Given the description of an element on the screen output the (x, y) to click on. 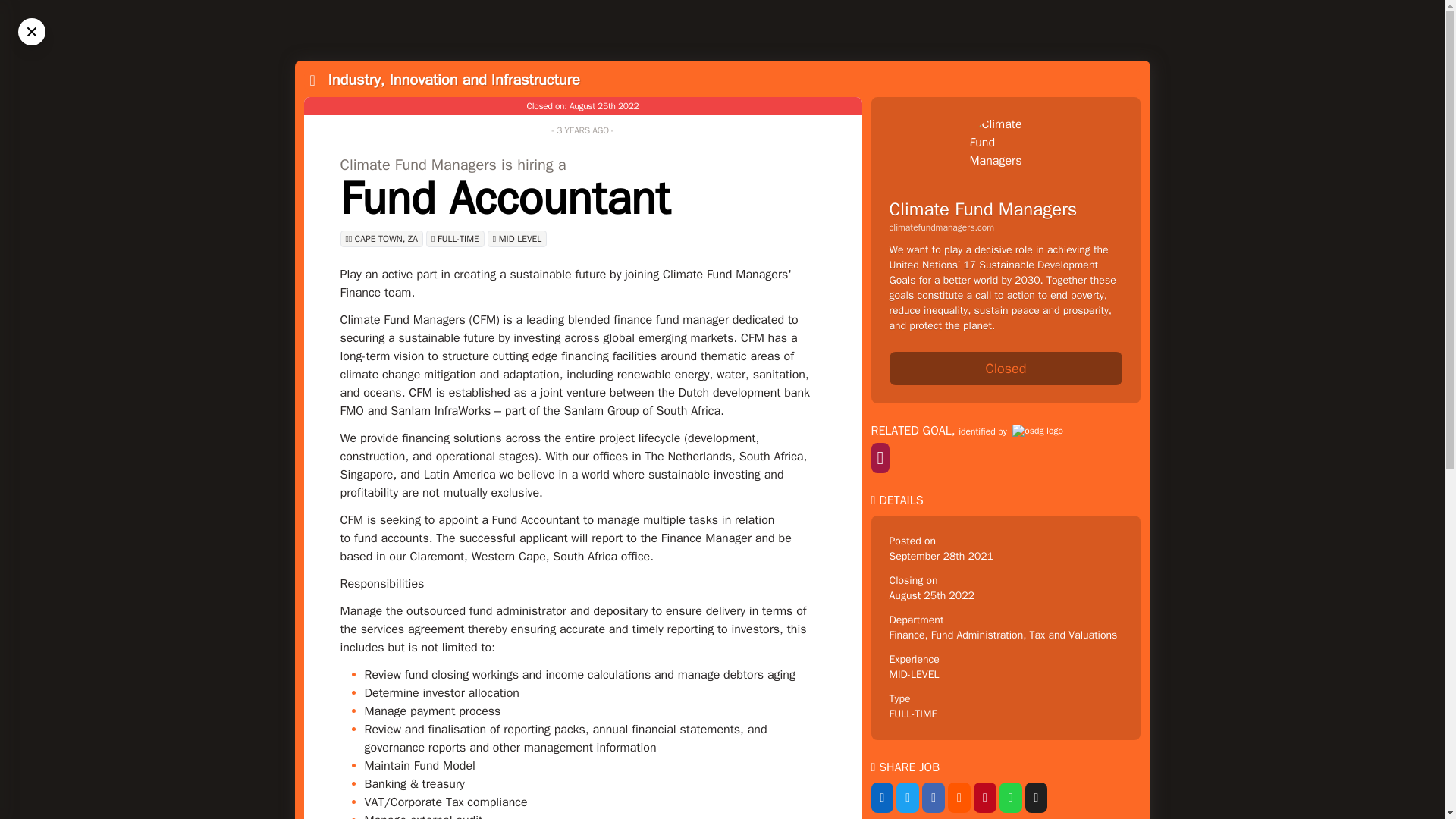
climatefundmanagers.com (1005, 227)
Closed (1005, 368)
Finance, Fund Administration, Tax and Valuations (1002, 634)
Industry, Innovation and Infrastructure (453, 79)
Climate Fund Managers (982, 209)
